Given the description of an element on the screen output the (x, y) to click on. 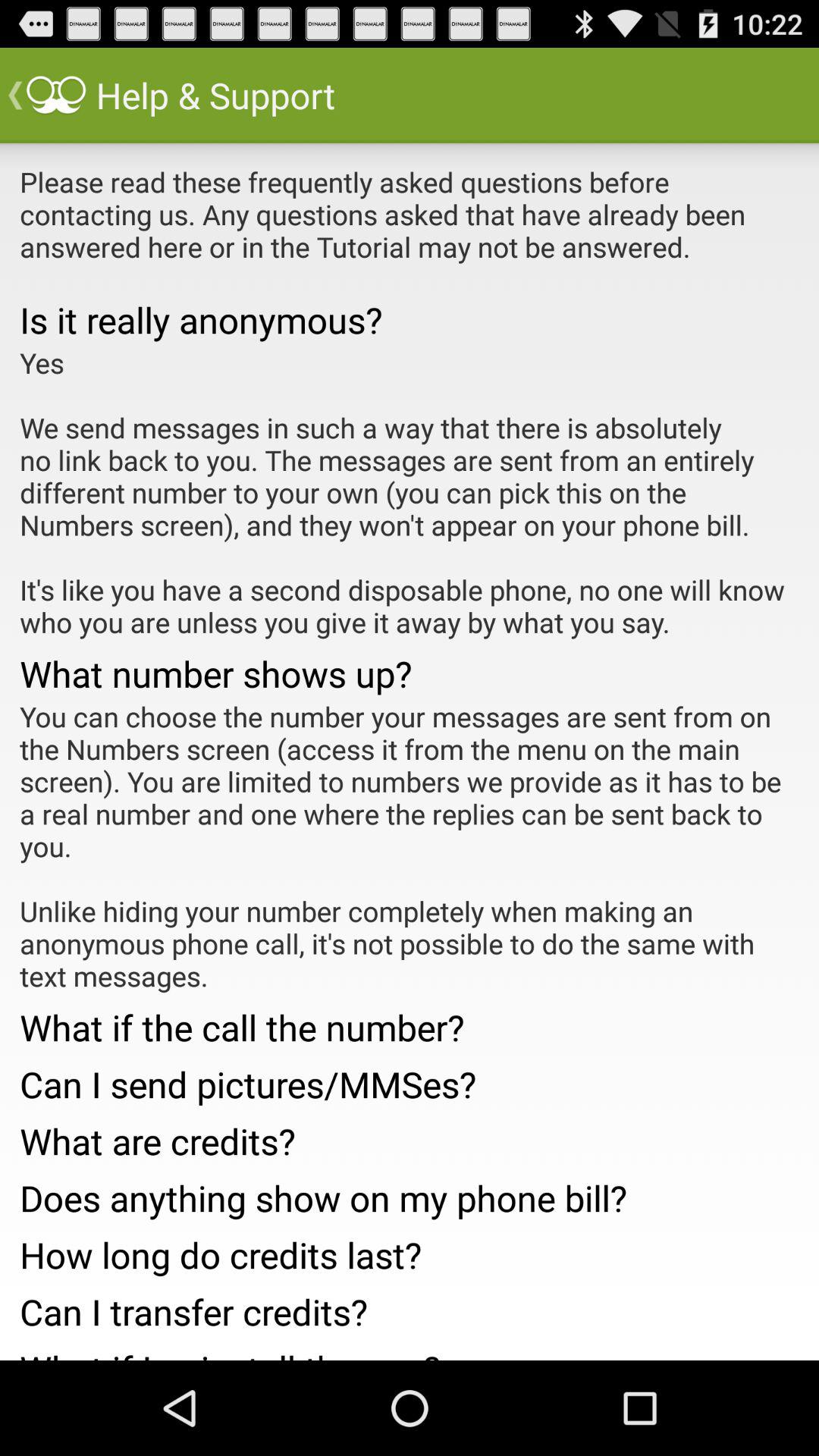
turn on the item below the what number shows icon (409, 845)
